Given the description of an element on the screen output the (x, y) to click on. 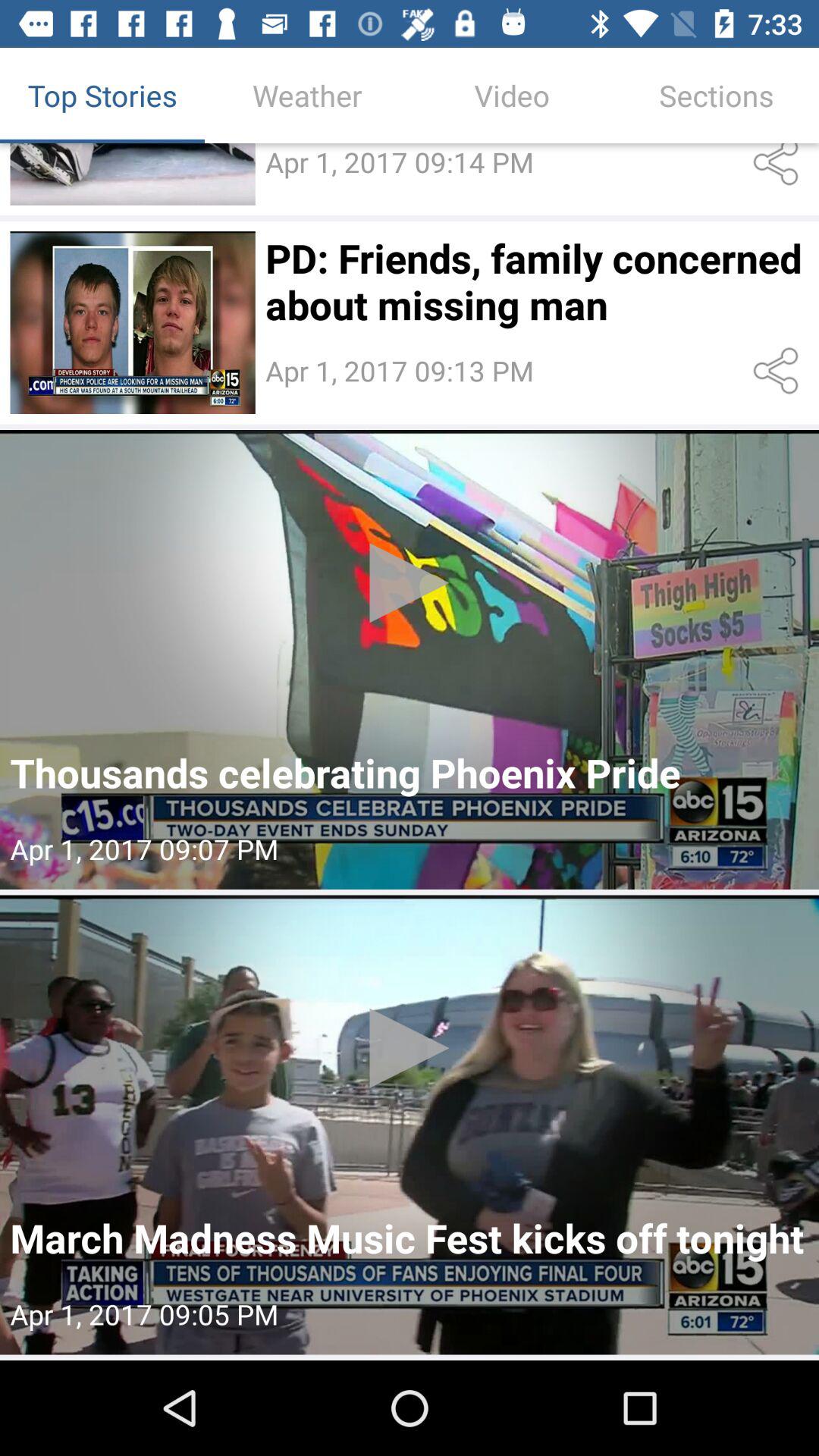
explore news (409, 659)
